Given the description of an element on the screen output the (x, y) to click on. 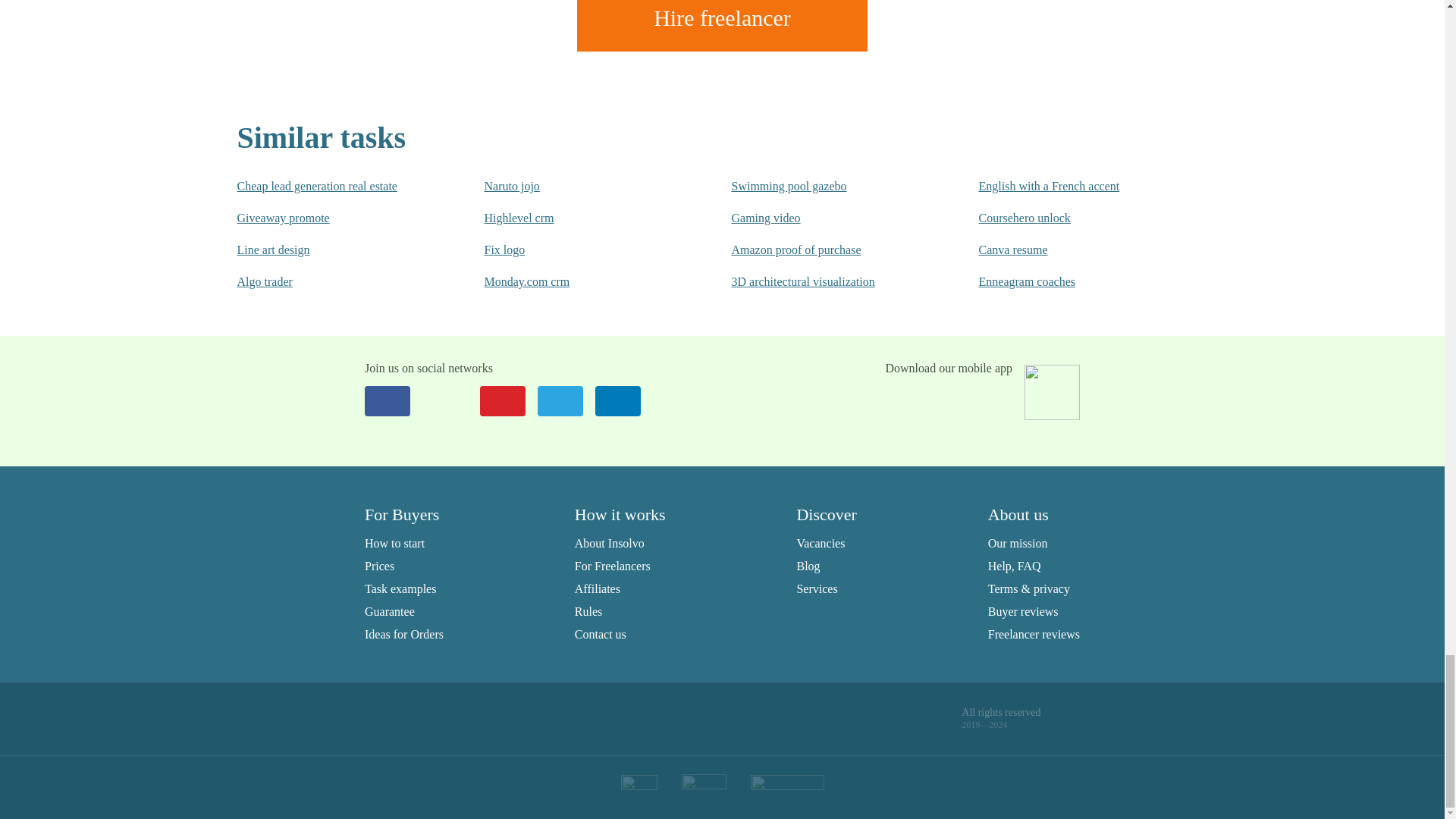
3D architectural visualization (823, 281)
Gaming video (823, 217)
English with a French accent (1071, 186)
Enneagram coaches (1071, 281)
Naruto jojo (576, 186)
How to start (395, 543)
Contact us (600, 634)
Highlevel crm (576, 217)
Affiliates (597, 588)
Coursehero unlock (1071, 217)
Line art design (329, 249)
Monday.com crm (576, 281)
Canva resume (1071, 249)
Guarantee (389, 611)
Prices (379, 565)
